Given the description of an element on the screen output the (x, y) to click on. 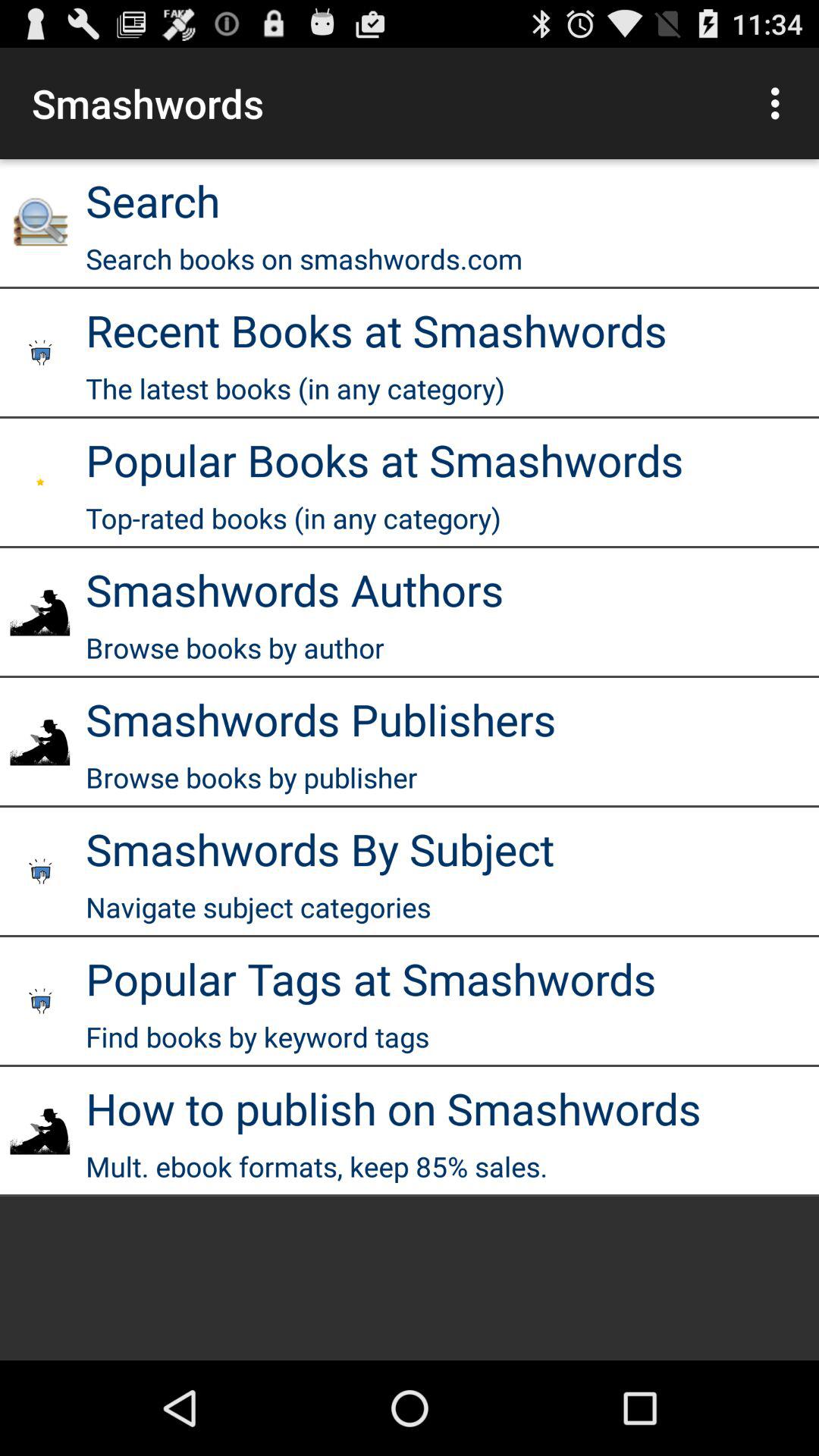
turn on the icon above recent books at (303, 258)
